Given the description of an element on the screen output the (x, y) to click on. 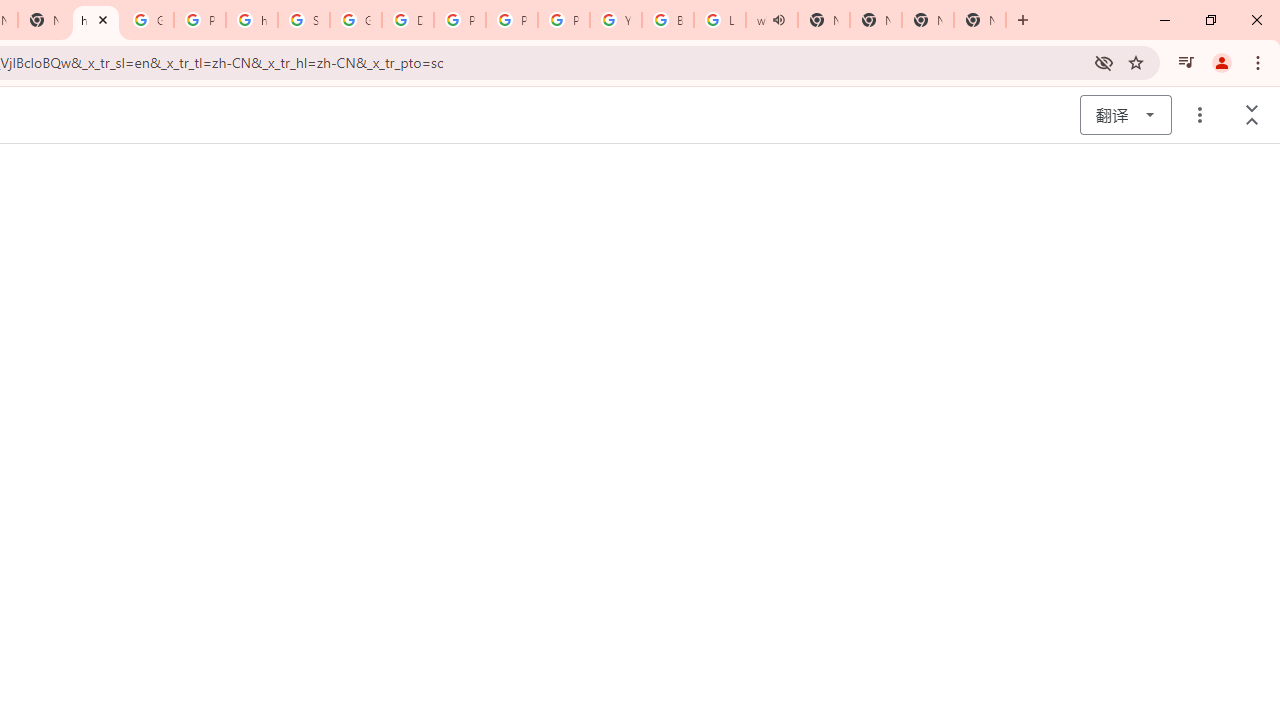
New Tab (927, 20)
Sign in - Google Accounts (303, 20)
https://scholar.google.com/ (251, 20)
YouTube (616, 20)
